Given the description of an element on the screen output the (x, y) to click on. 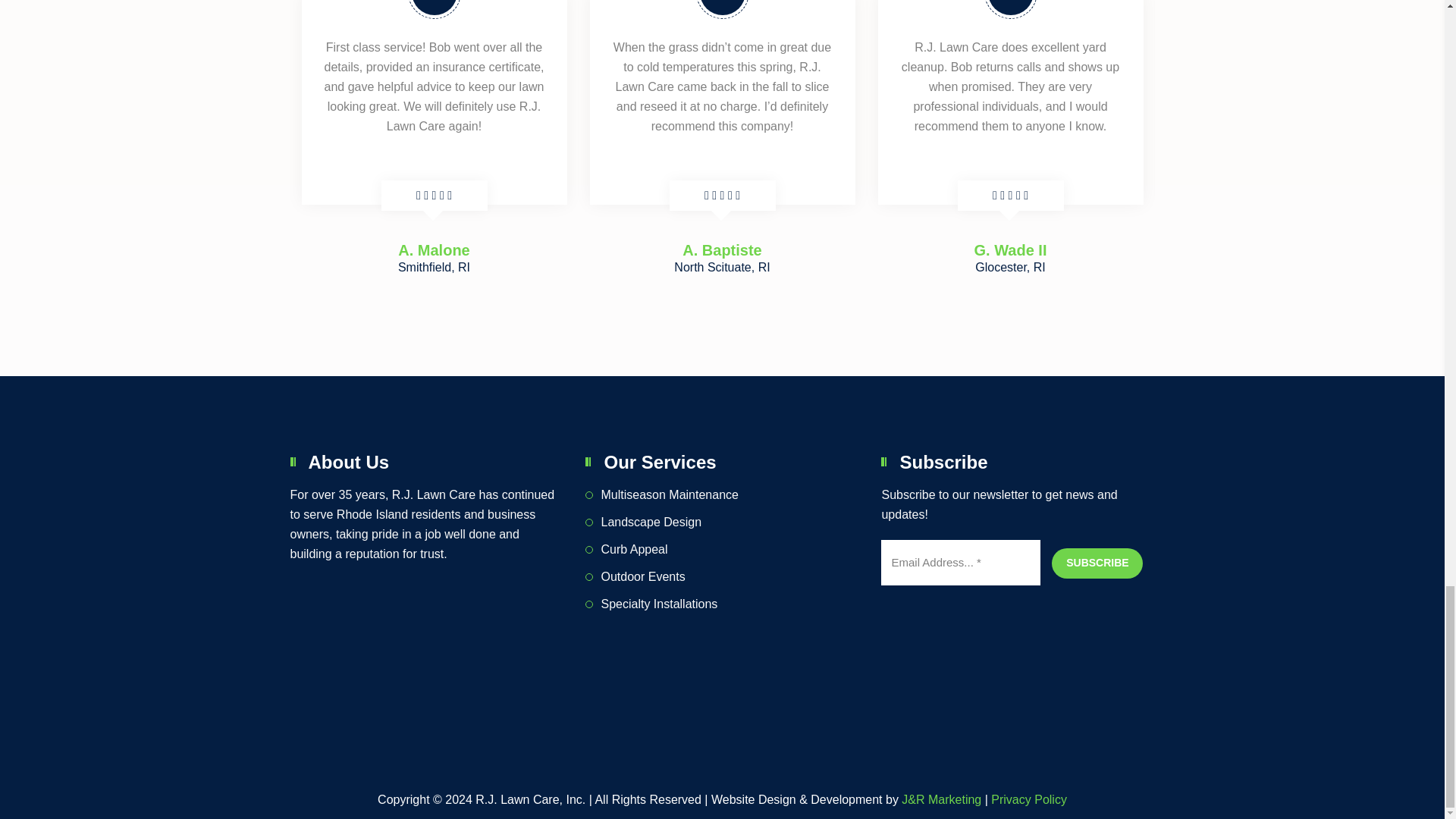
Subscribe (1097, 562)
